Given the description of an element on the screen output the (x, y) to click on. 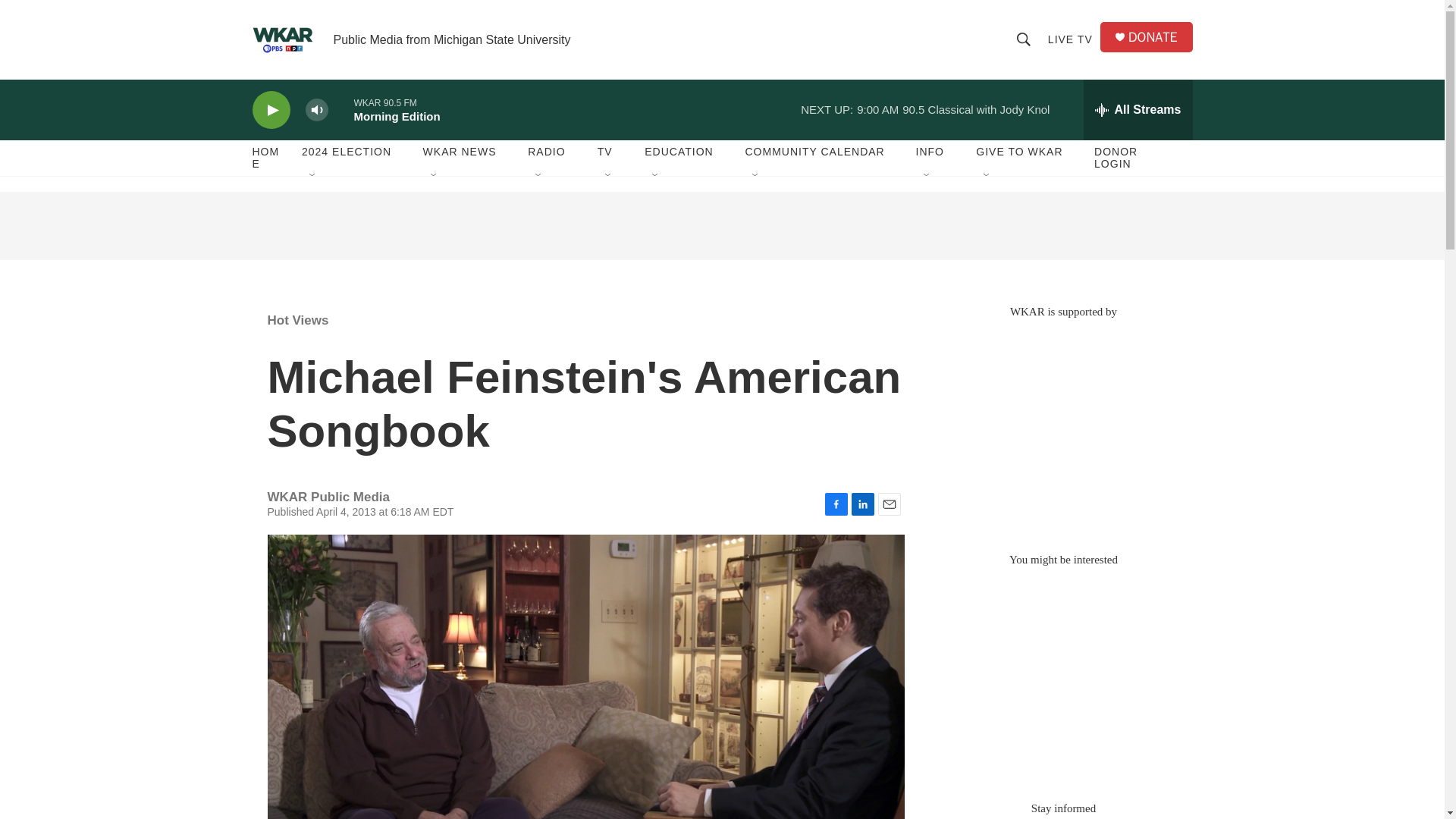
3rd party ad content (1062, 428)
3rd party ad content (1062, 677)
3rd party ad content (721, 225)
